Given the description of an element on the screen output the (x, y) to click on. 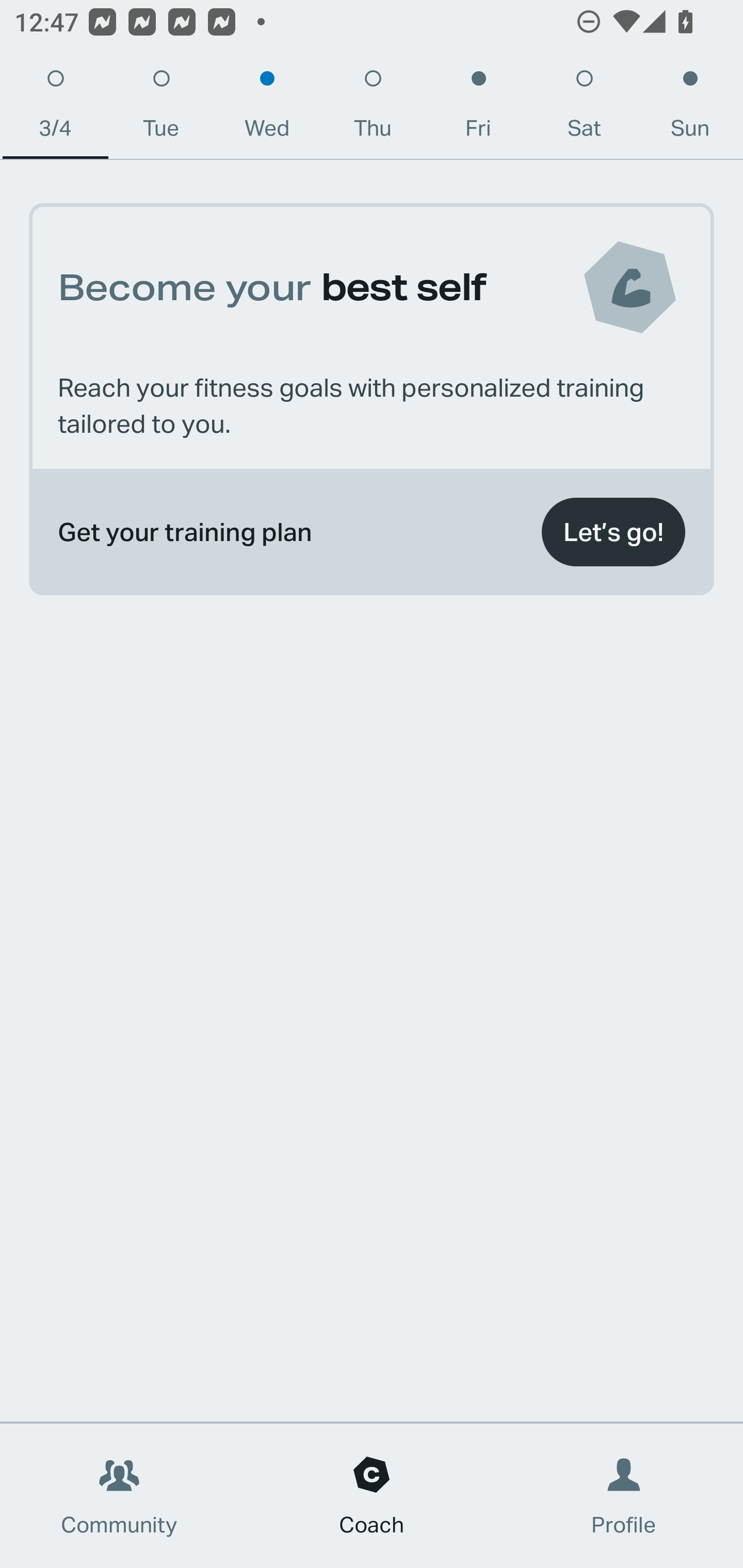
3/4 (55, 108)
Tue (160, 108)
Wed (266, 108)
Thu (372, 108)
Fri (478, 108)
Sat (584, 108)
Sun (690, 108)
Let’s go! (613, 532)
Community (119, 1495)
Profile (624, 1495)
